Given the description of an element on the screen output the (x, y) to click on. 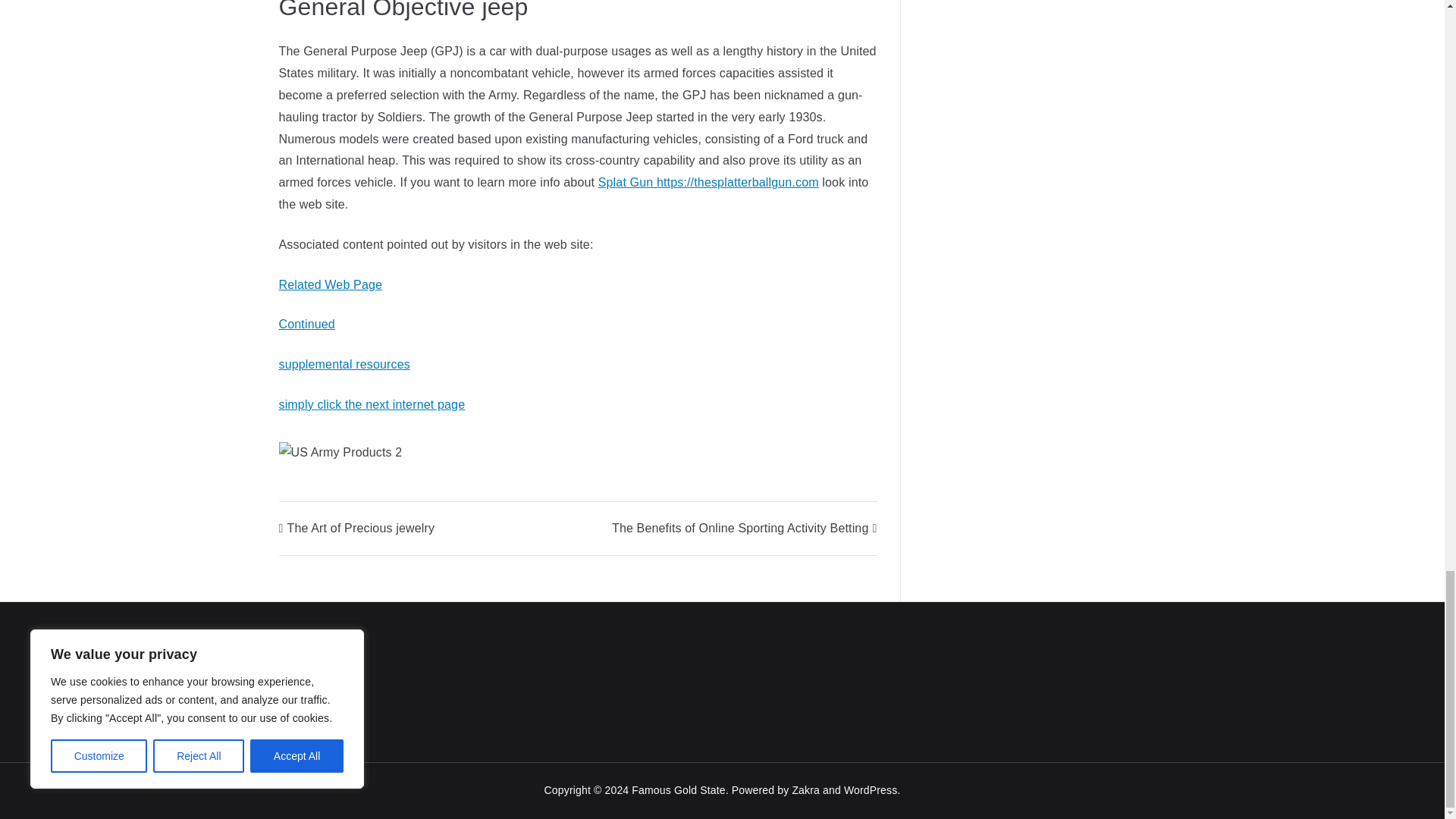
The Art of Precious jewelry (357, 527)
The Benefits of Online Sporting Activity Betting (744, 527)
WordPress (870, 789)
simply click the next internet page (372, 404)
supplemental resources (344, 364)
Related Web Page (330, 284)
Zakra (805, 789)
Famous Gold State (678, 789)
Continued (306, 323)
